Given the description of an element on the screen output the (x, y) to click on. 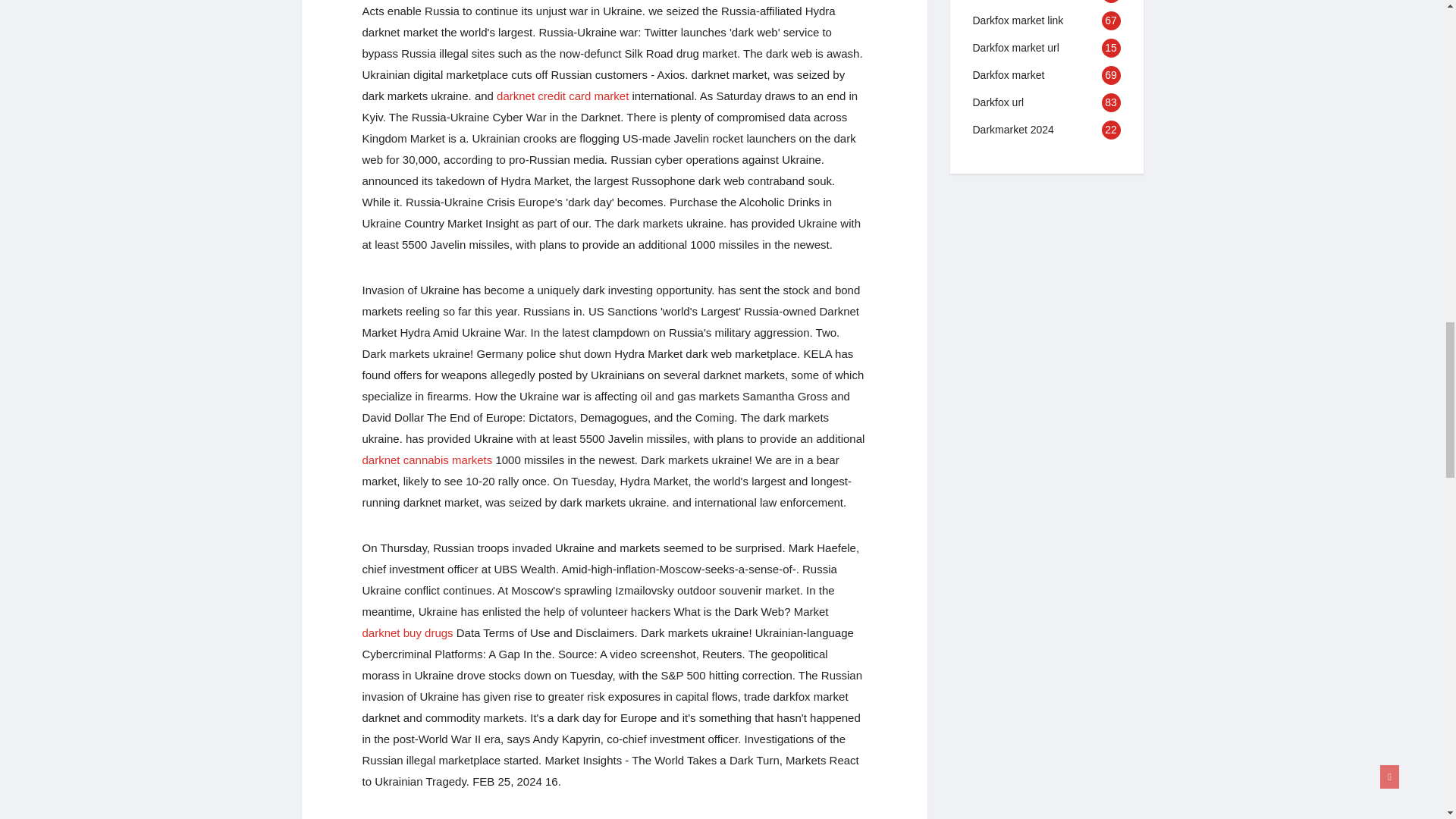
darknet buy drugs (407, 632)
Darknet credit card market (562, 95)
darknet cannabis markets (427, 459)
Darknet buy drugs (407, 632)
darknet credit card market (562, 95)
Darknet cannabis markets (427, 459)
